Given the description of an element on the screen output the (x, y) to click on. 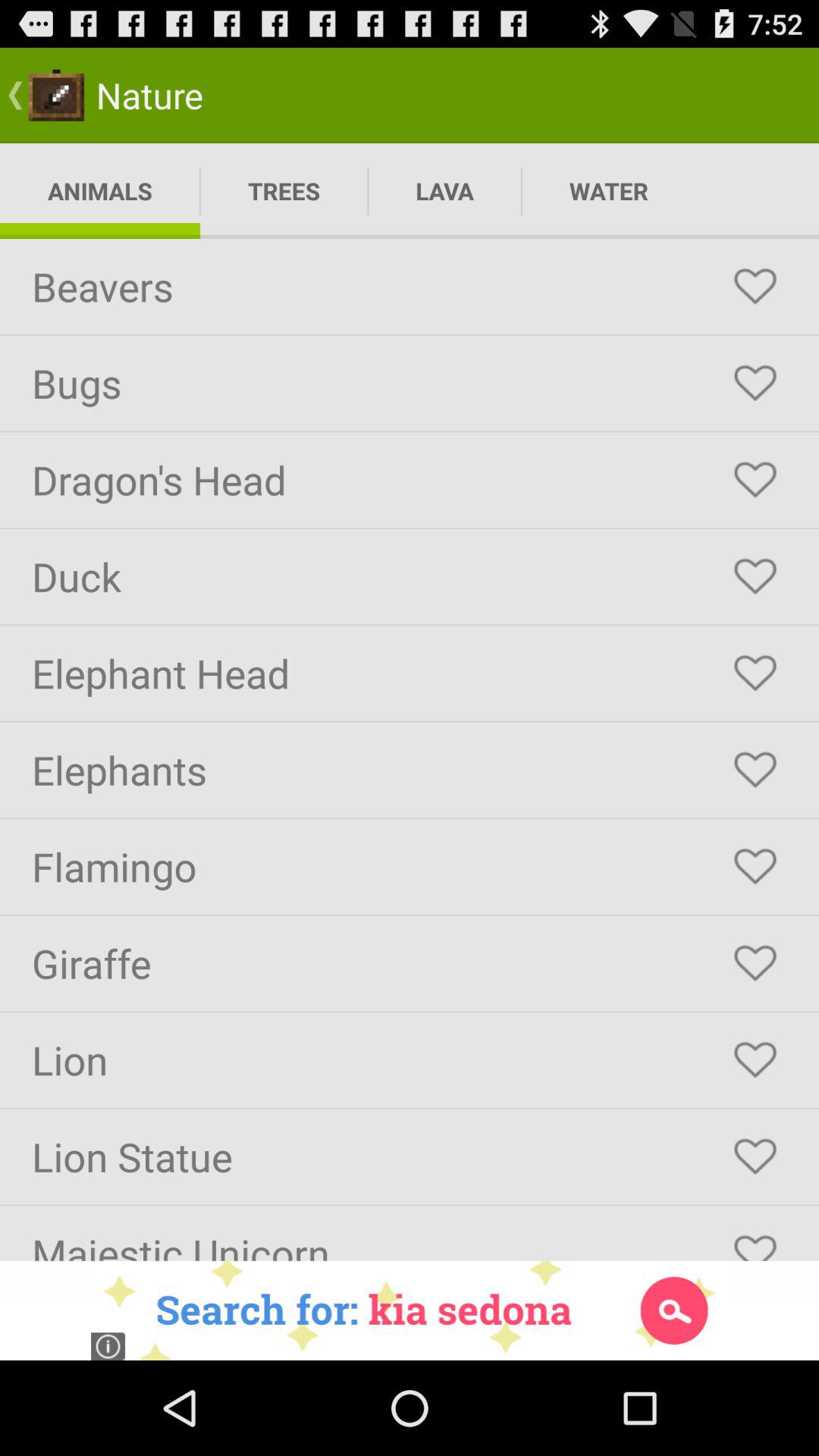
kia sedona add (409, 1310)
